Given the description of an element on the screen output the (x, y) to click on. 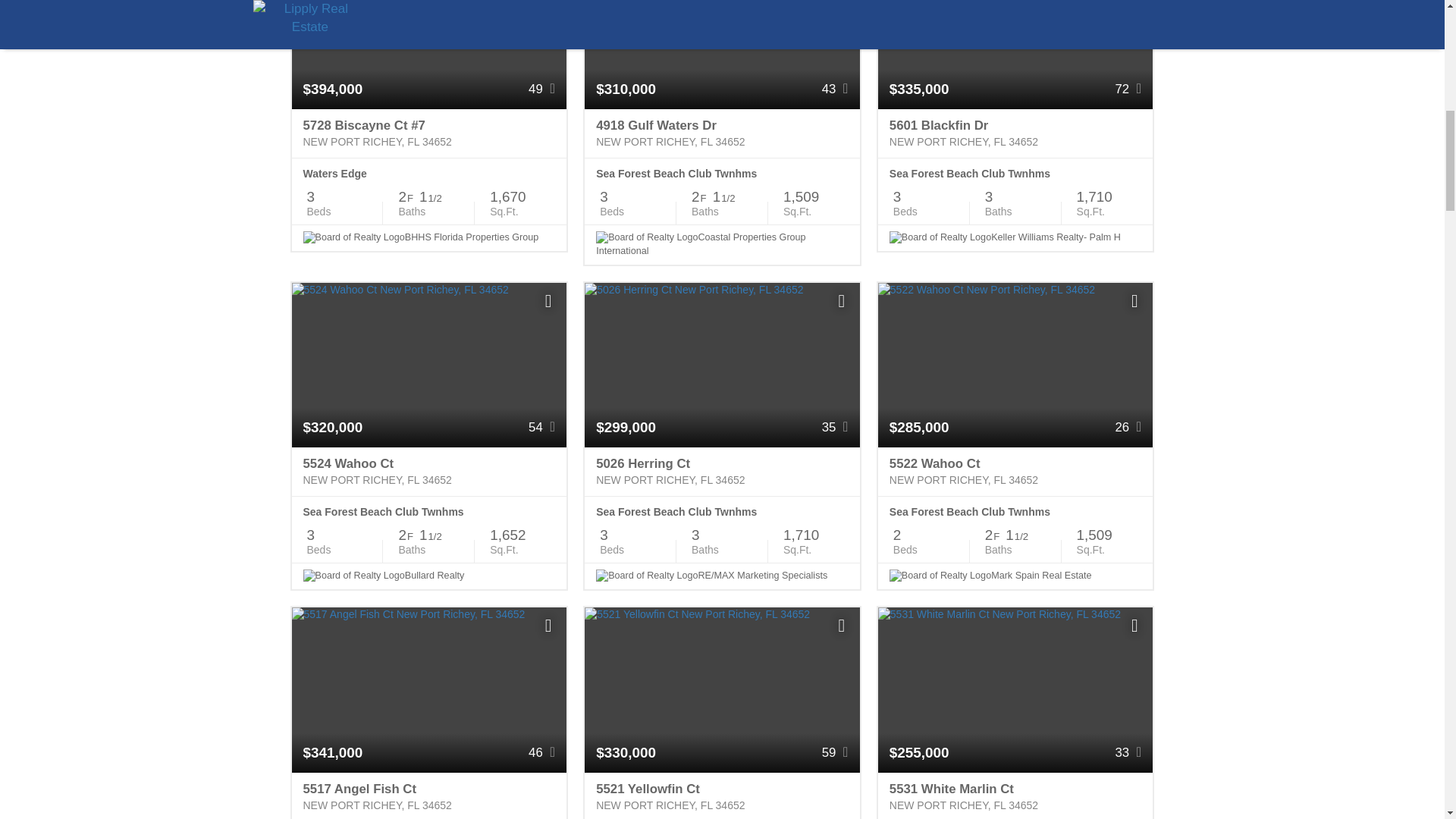
5601 Blackfin Dr New Port Richey,  FL 34652 (1015, 133)
5026 Herring Ct New Port Richey,  FL 34652 (722, 471)
4918 Gulf Waters Dr New Port Richey,  FL 34652 (722, 133)
5524 Wahoo Ct New Port Richey,  FL 34652 (428, 471)
